Given the description of an element on the screen output the (x, y) to click on. 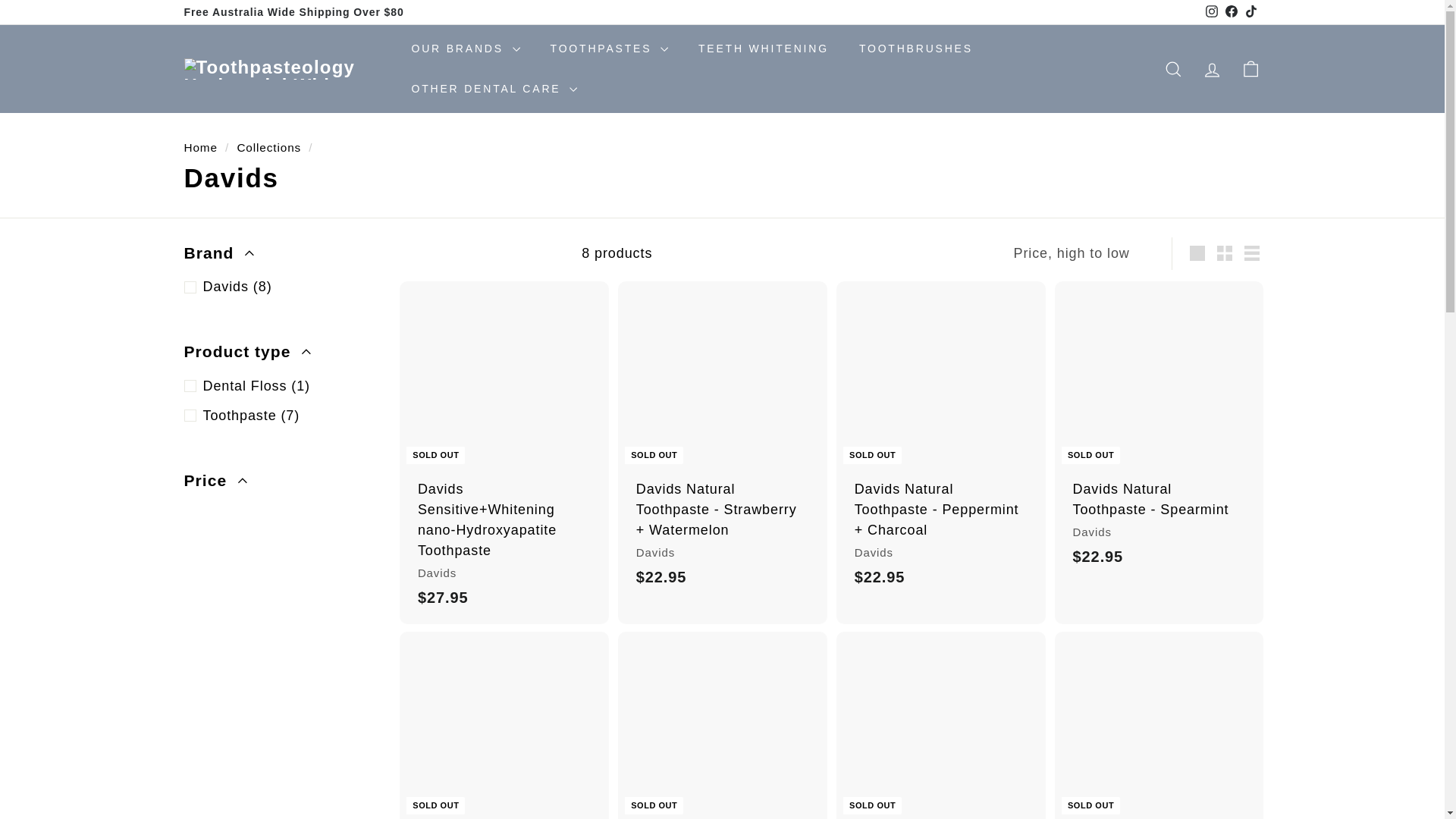
List (1252, 253)
Large (1197, 253)
instagram (1211, 10)
Back to the frontpage (199, 146)
Small (1225, 253)
